Given the description of an element on the screen output the (x, y) to click on. 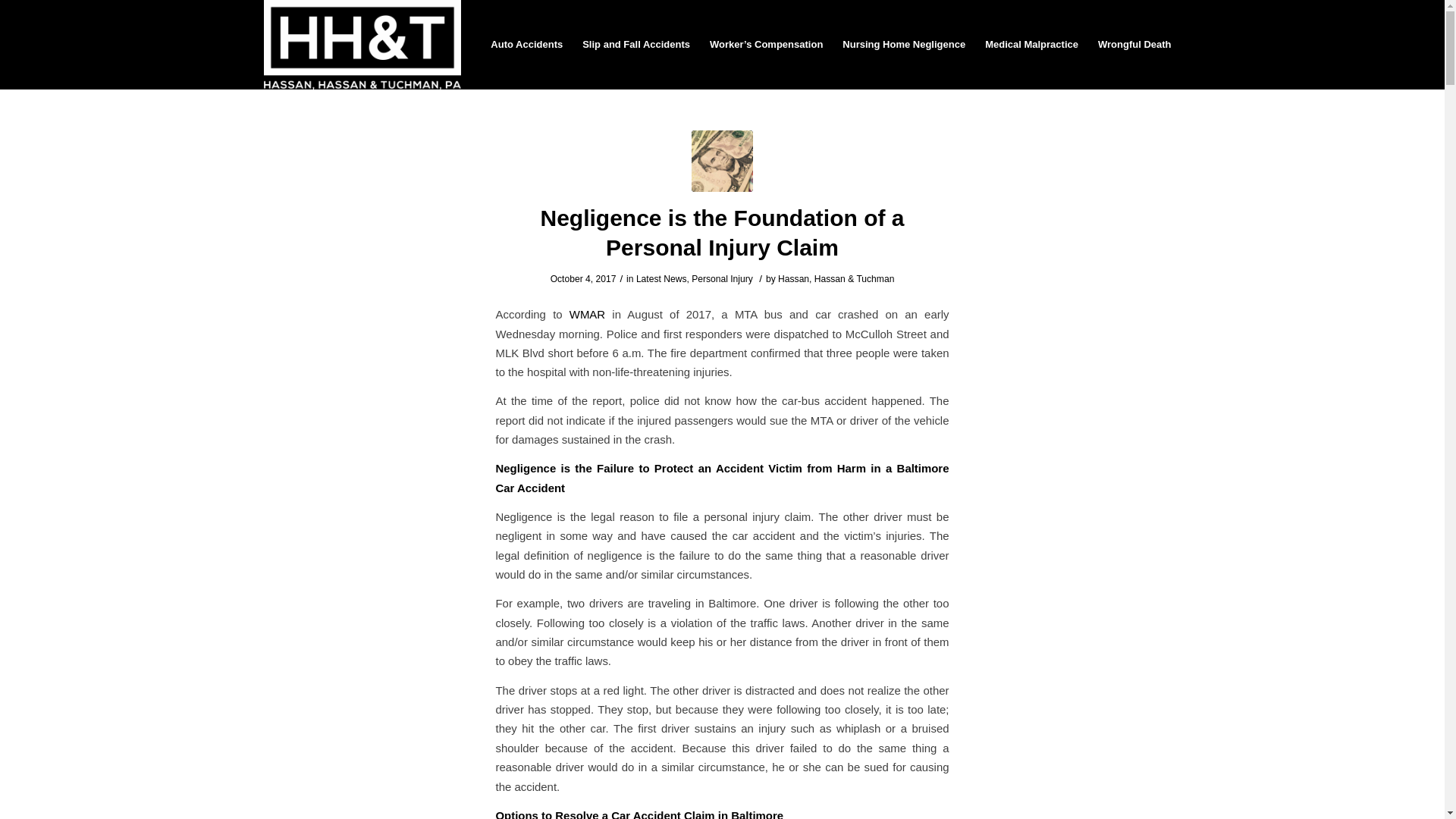
Negligence is the Foundation of a Personal Injury Claim (722, 232)
Wrongful Death (1133, 44)
Slip and Fall Accidents (636, 44)
WMAR (587, 314)
Medical Malpractice (1031, 44)
Latest News (661, 278)
Nursing Home Negligence (903, 44)
Personal Injury (721, 278)
Negligence is the Foundation of a Personal Injury Claim (721, 160)
Auto Accidents (526, 44)
